Given the description of an element on the screen output the (x, y) to click on. 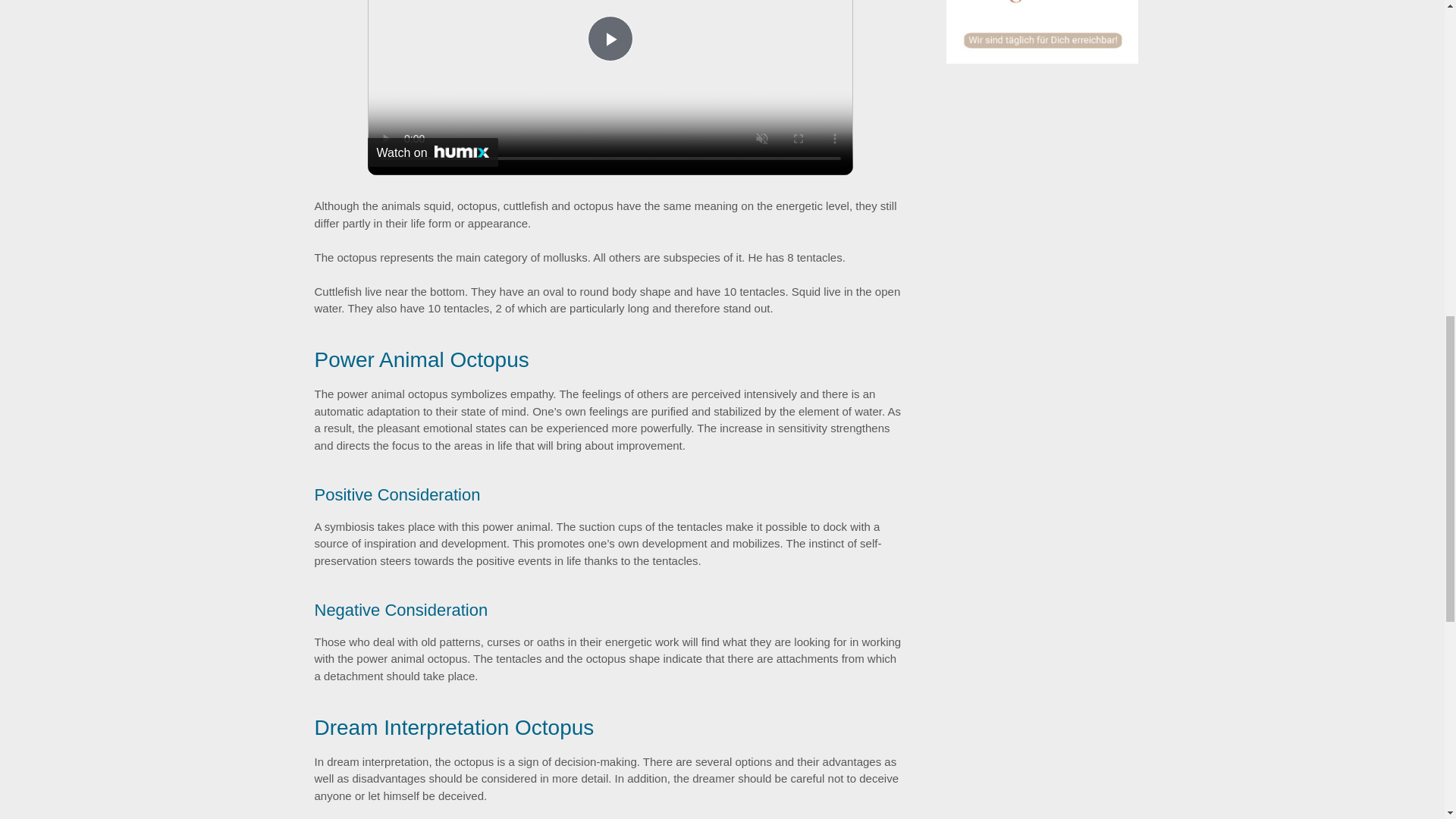
Watch on (432, 152)
Play Video (610, 38)
Play Video (610, 38)
